Given the description of an element on the screen output the (x, y) to click on. 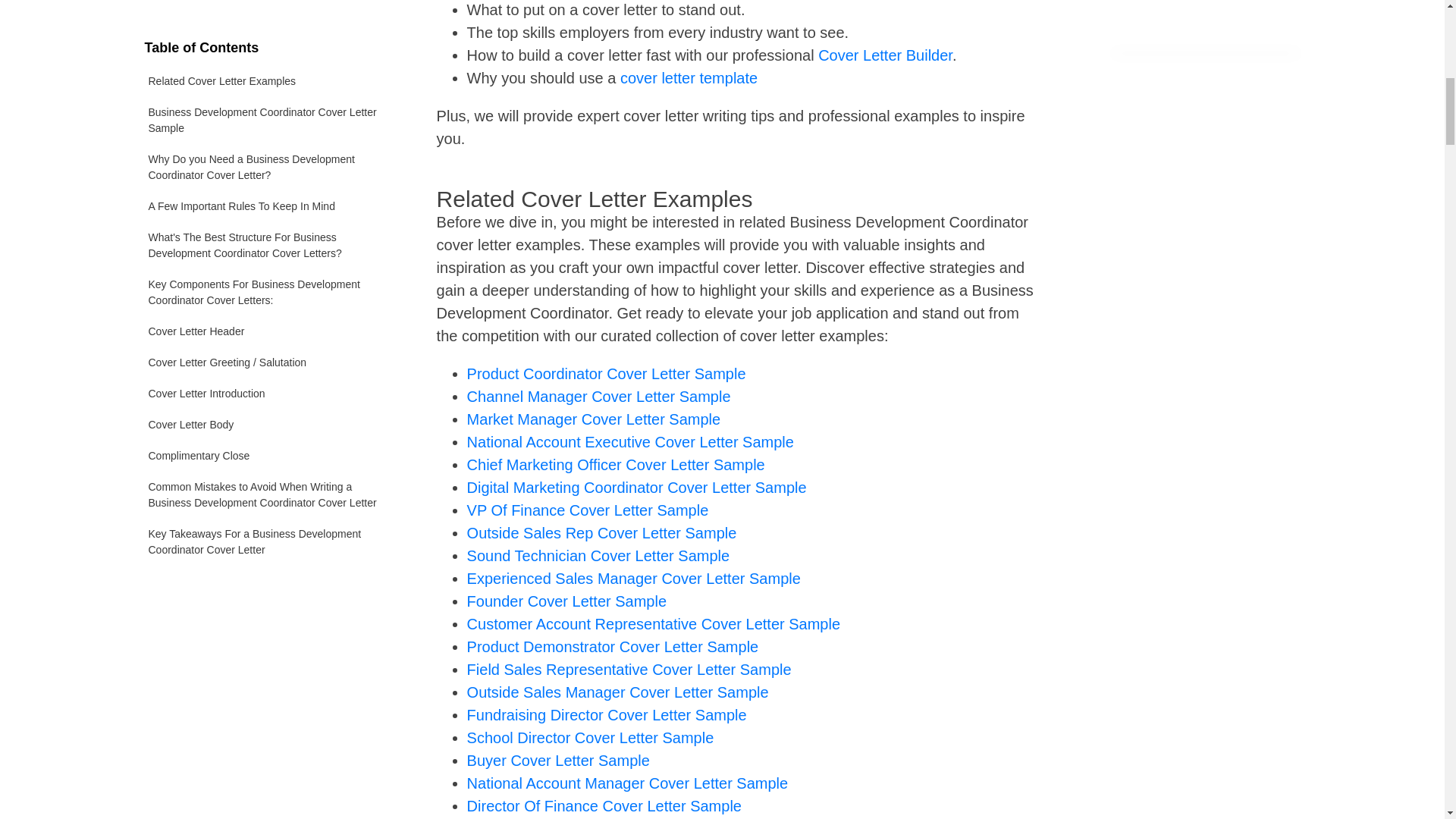
Cover Letter Body (270, 195)
Cover Letter Introduction (270, 164)
Market Manager Cover Letter Sample (593, 419)
Product Coordinator Cover Letter Sample (606, 373)
VP Of Finance Cover Letter Sample (588, 510)
cover letter template (688, 77)
Digital Marketing Coordinator Cover Letter Sample (636, 487)
Cover Letter Header (270, 101)
Chief Marketing Officer Cover Letter Sample (616, 464)
Cover Letter Builder (885, 54)
Channel Manager Cover Letter Sample (598, 396)
National Account Executive Cover Letter Sample (630, 442)
